Given the description of an element on the screen output the (x, y) to click on. 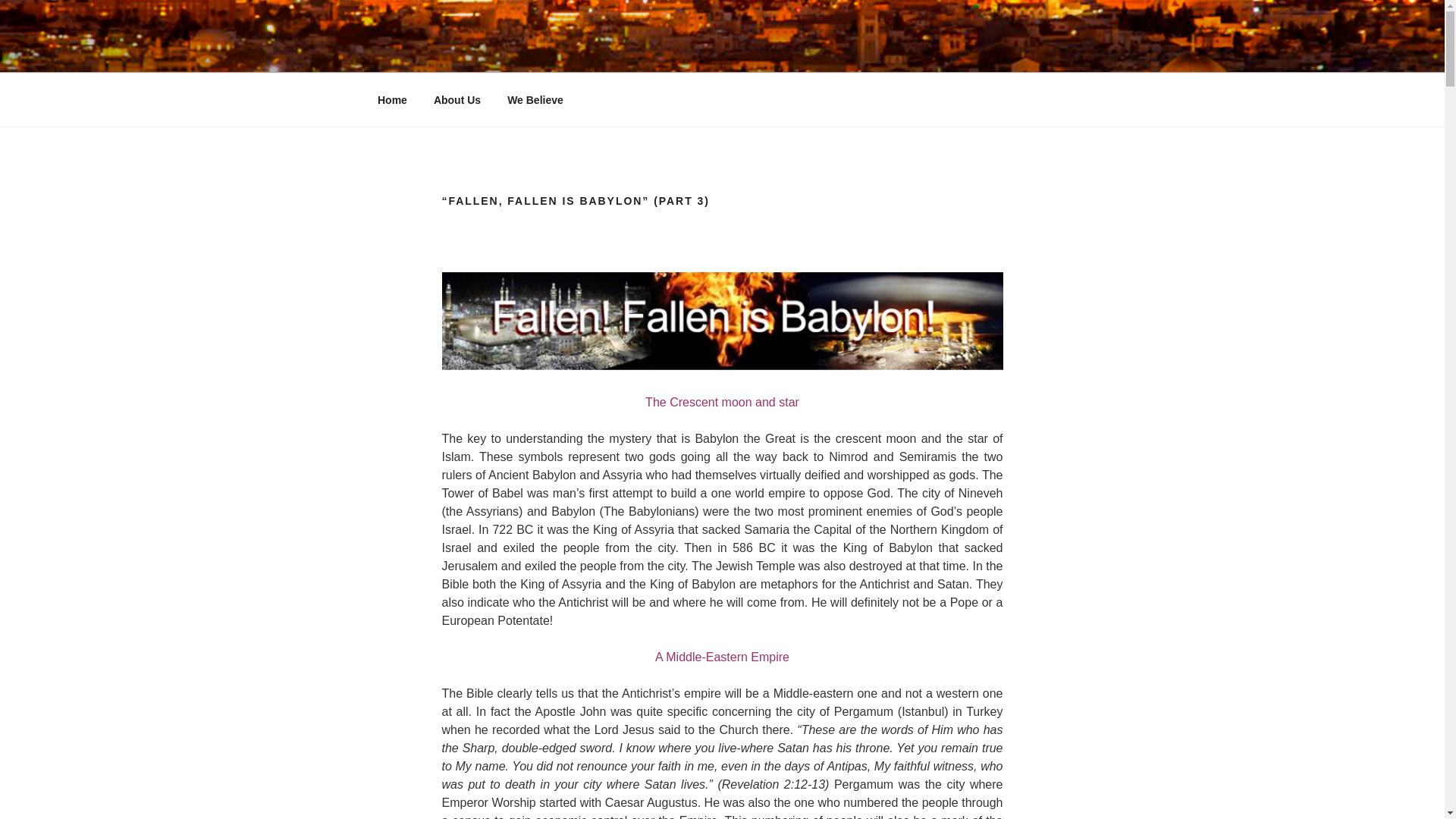
We Believe (535, 99)
About Us (456, 99)
Home (392, 99)
